Given the description of an element on the screen output the (x, y) to click on. 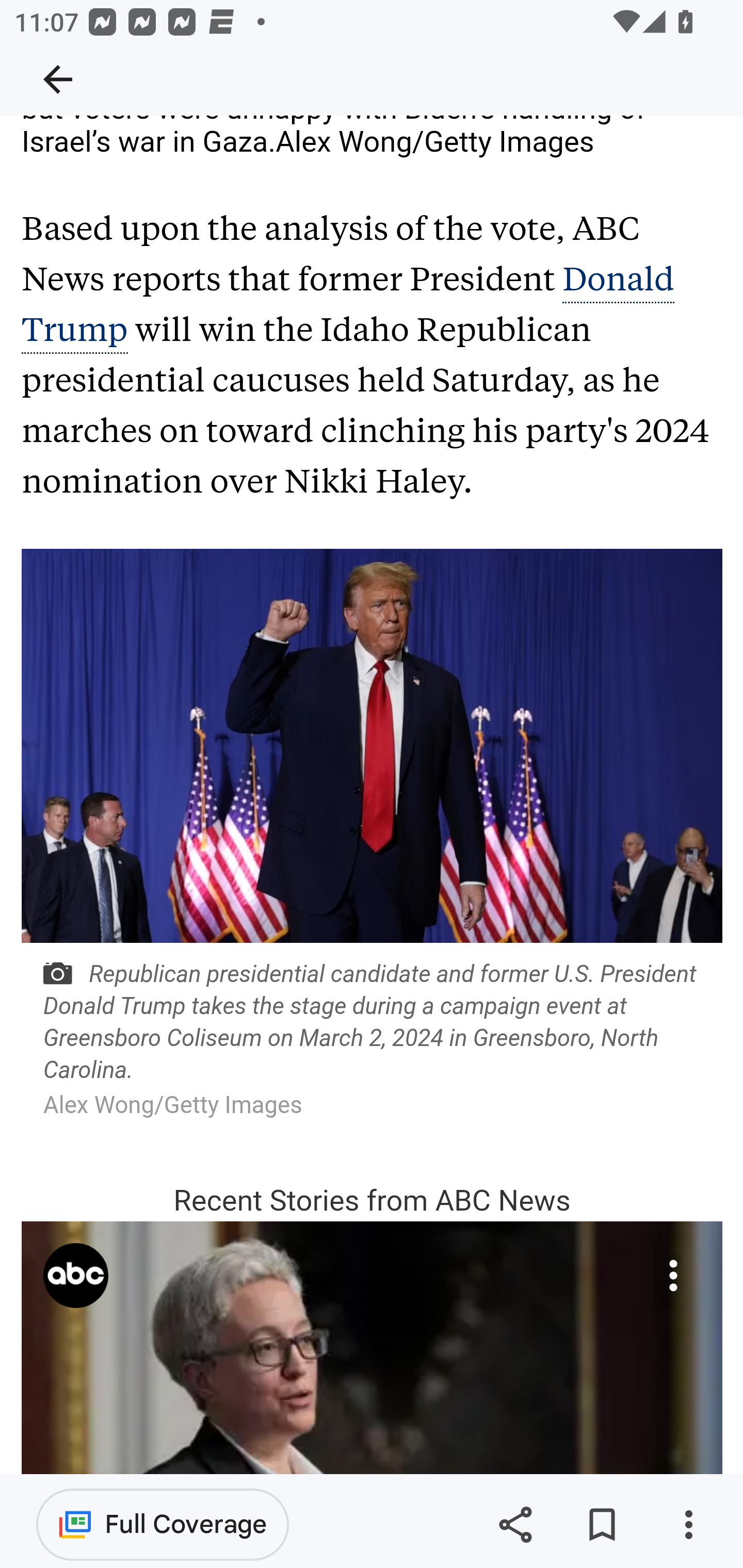
Navigate up (57, 79)
Donald Trump (348, 305)
More (673, 1276)
Share (514, 1524)
Save for later (601, 1524)
More options (688, 1524)
Full Coverage (162, 1524)
